Given the description of an element on the screen output the (x, y) to click on. 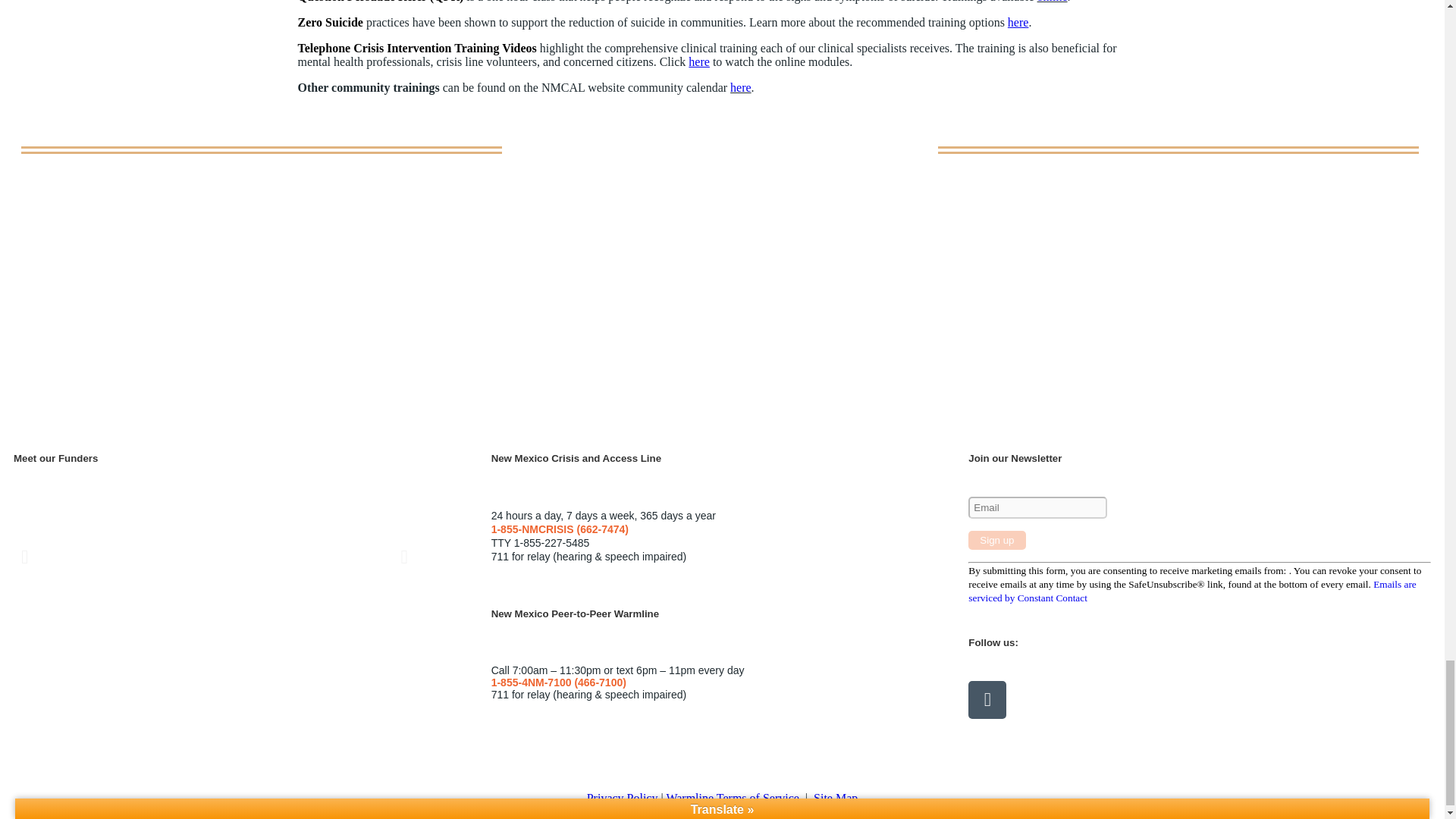
Sign up (996, 539)
